Given the description of an element on the screen output the (x, y) to click on. 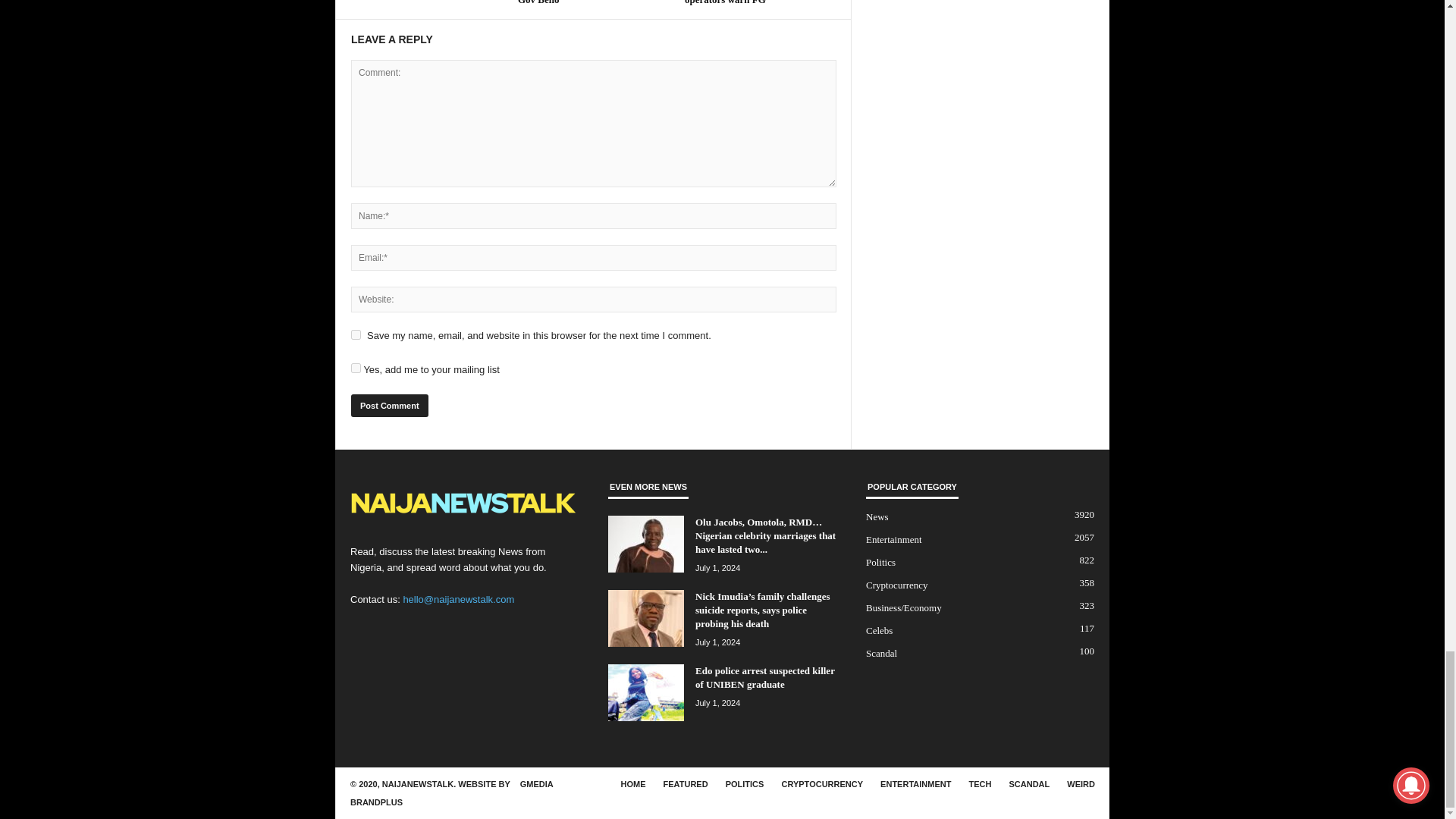
Post Comment (389, 404)
yes (355, 334)
1 (355, 368)
